Given the description of an element on the screen output the (x, y) to click on. 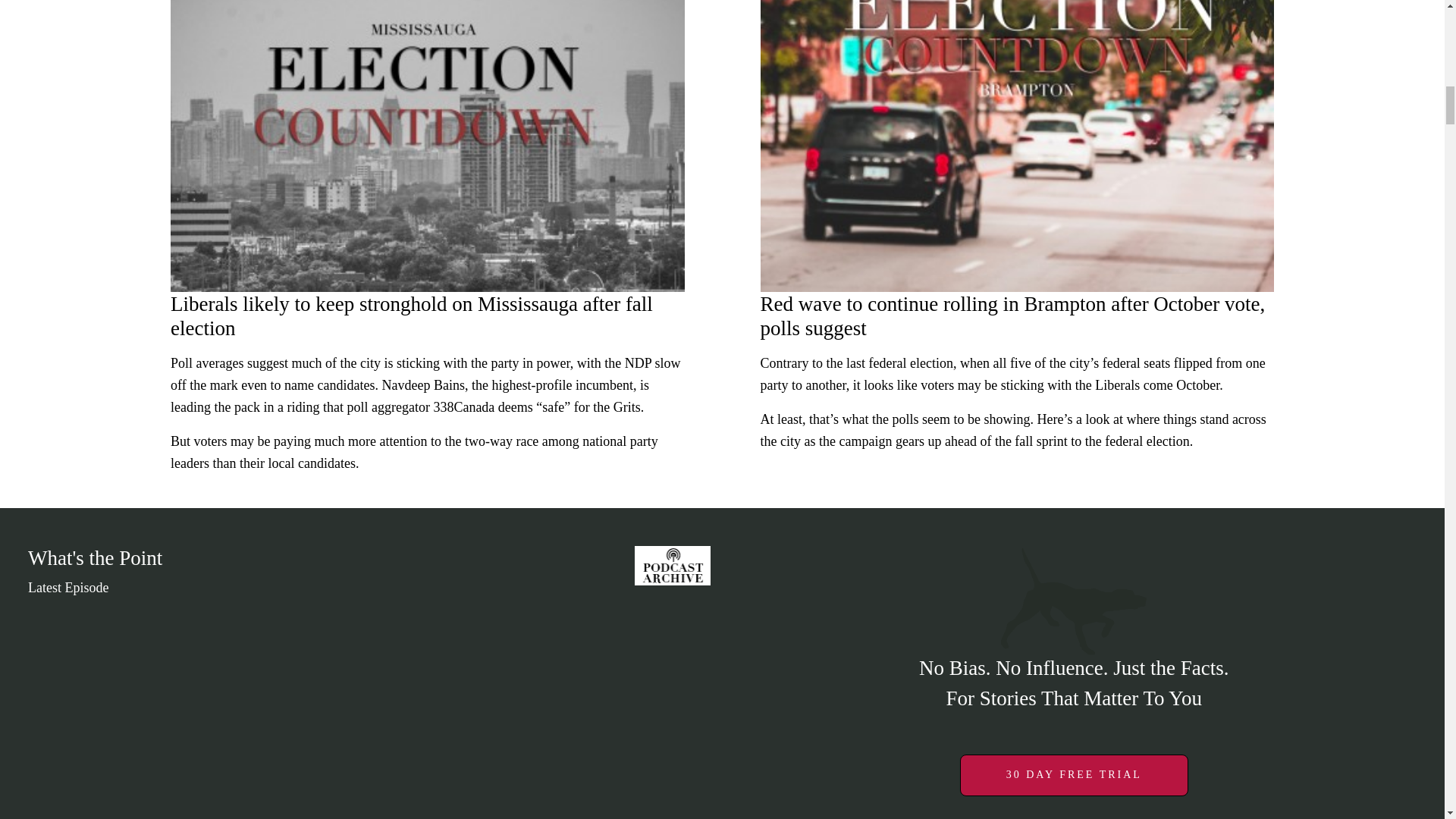
30 DAY FREE TRIAL (1073, 774)
